Given the description of an element on the screen output the (x, y) to click on. 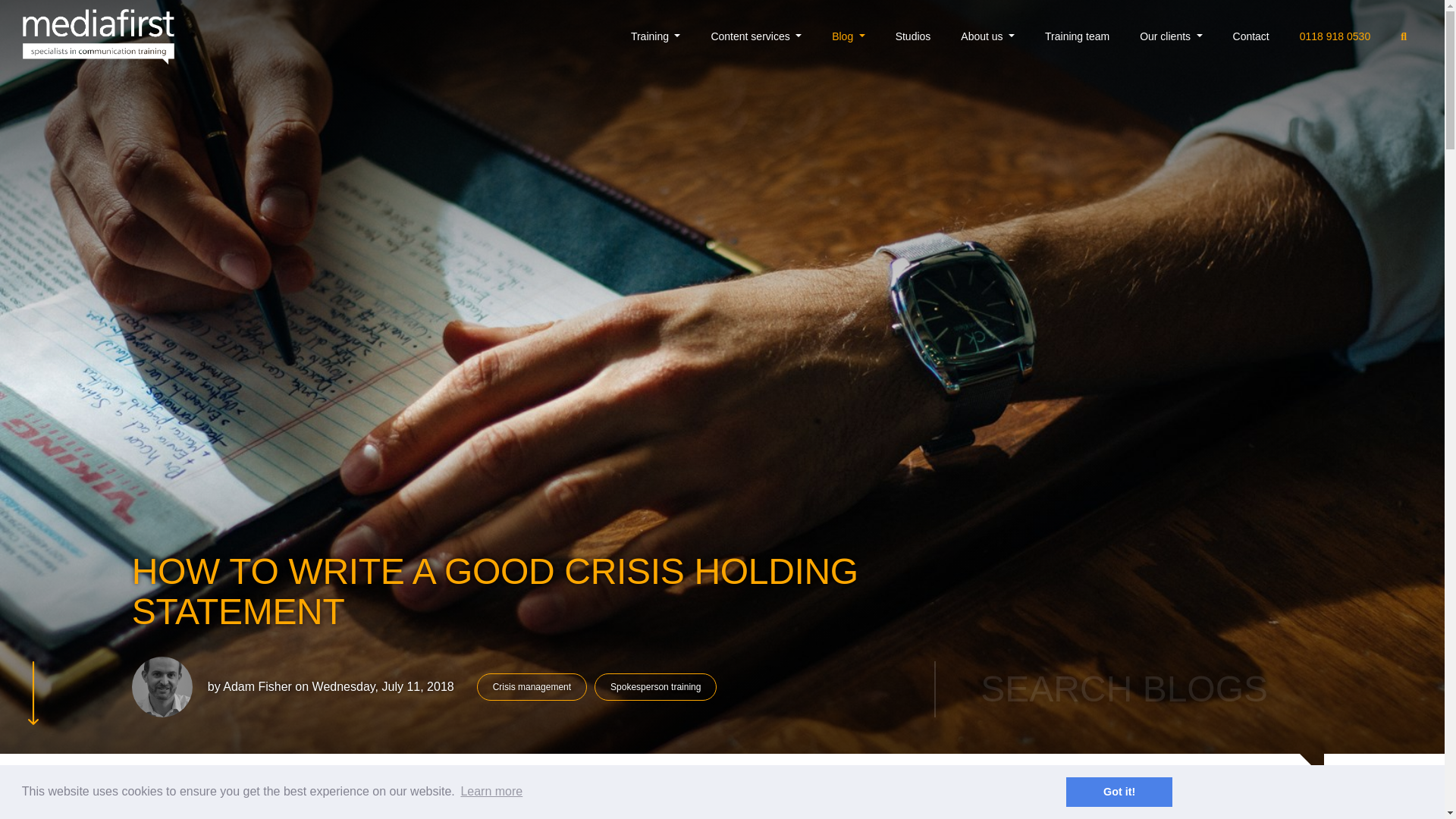
Content services (755, 36)
Training (655, 36)
Our clients (1170, 36)
LiveChat chat widget (1336, 795)
Got it! (1118, 791)
Training team (1076, 36)
Learn more (491, 791)
Studios (913, 36)
About us (986, 36)
